Given the description of an element on the screen output the (x, y) to click on. 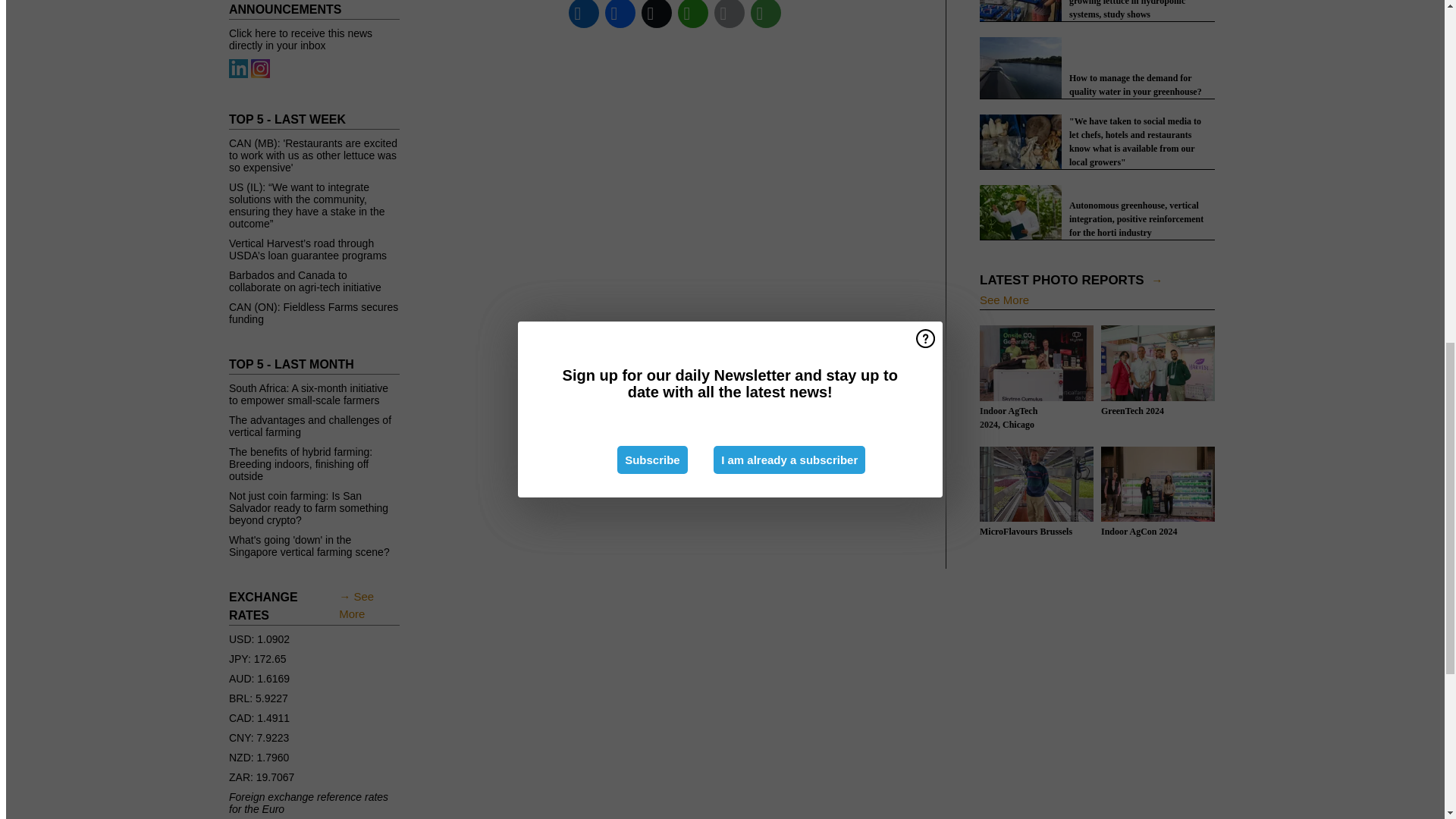
Facebook (620, 15)
LinkedIn (584, 15)
Email This (729, 15)
WhatsApp (693, 15)
More Options (766, 15)
